Given the description of an element on the screen output the (x, y) to click on. 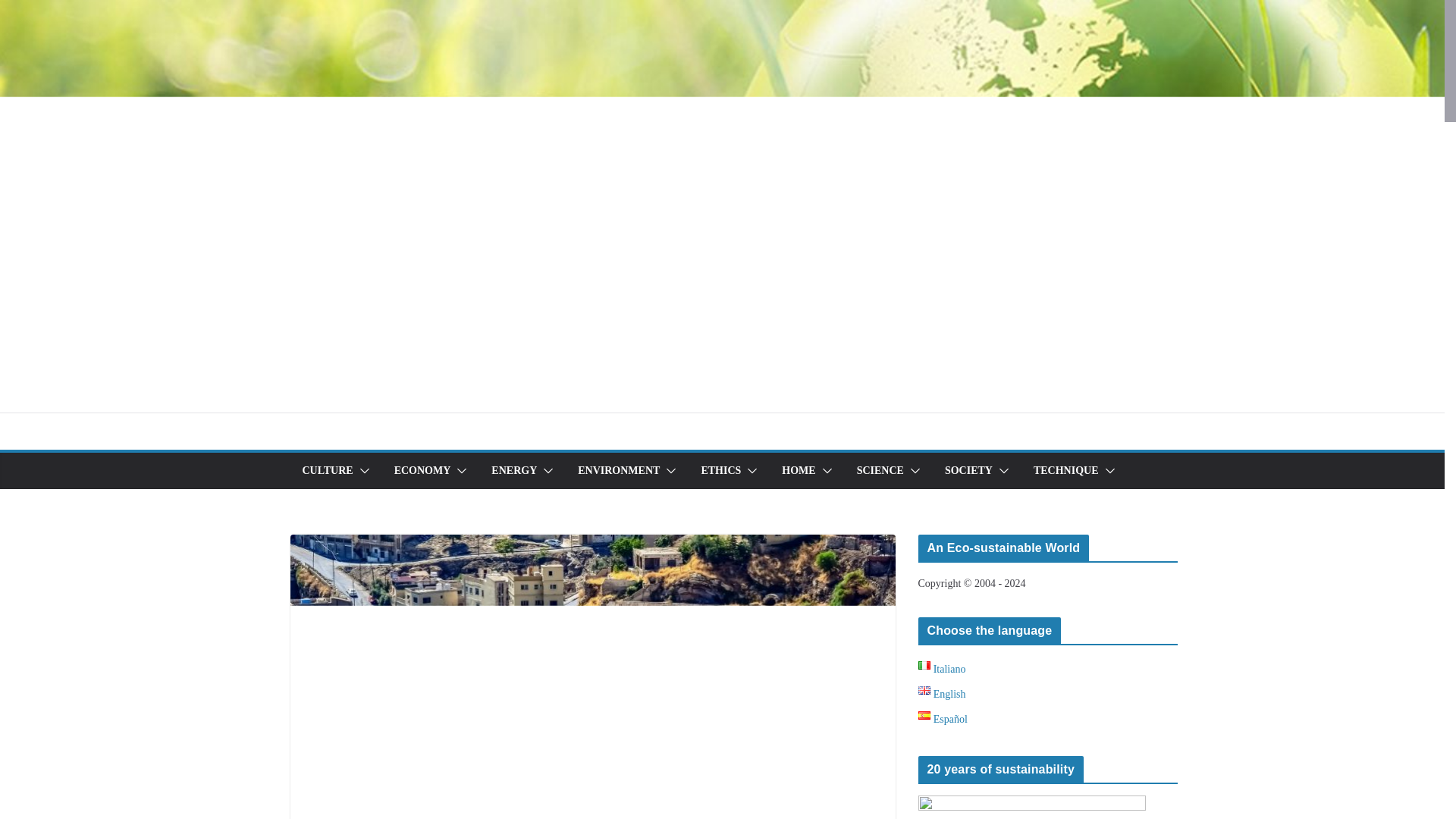
ETHICS (720, 470)
CULTURE (326, 470)
ENERGY (514, 470)
ECONOMY (422, 470)
ENVIRONMENT (618, 470)
